Given the description of an element on the screen output the (x, y) to click on. 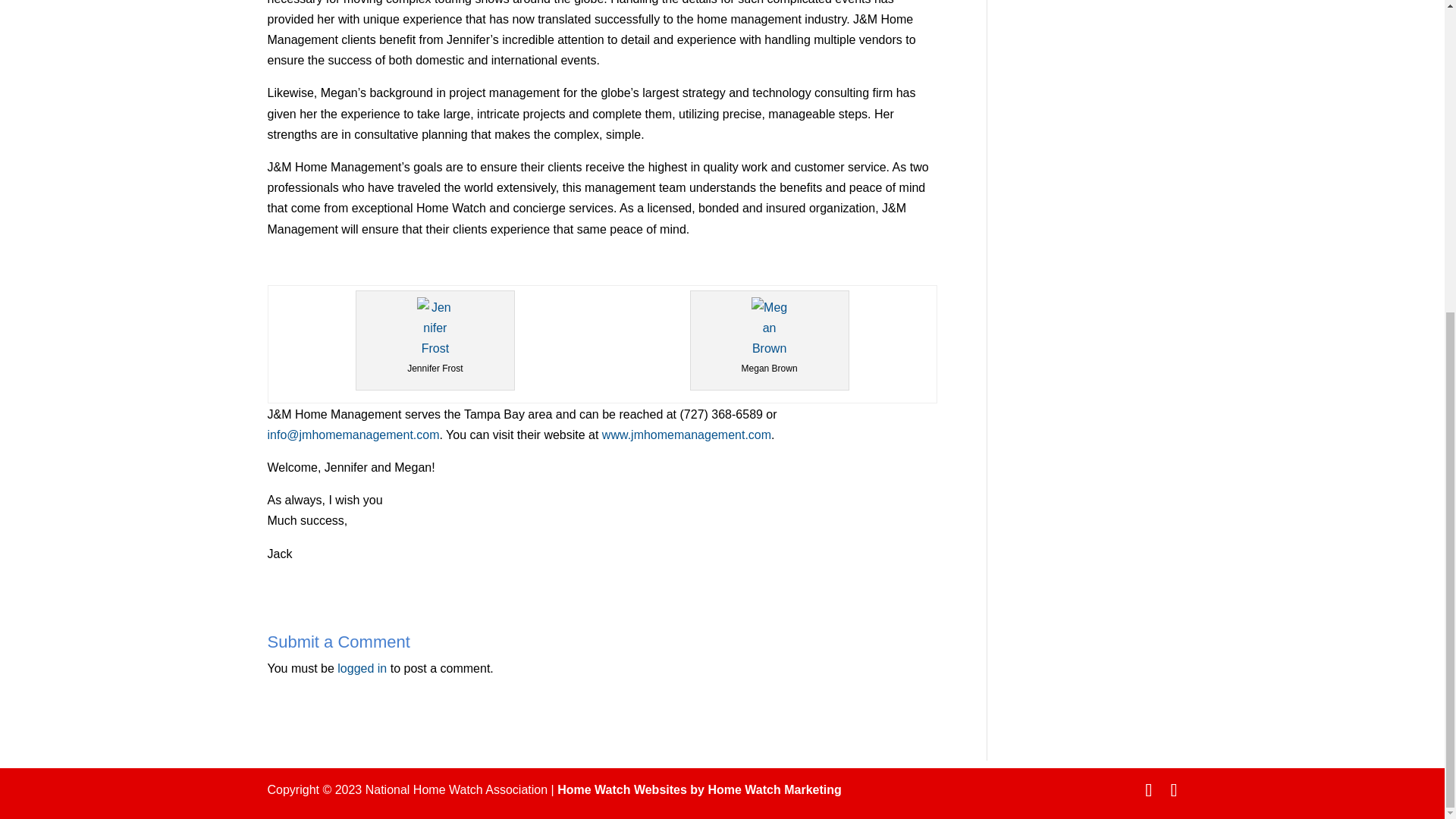
www.jmhomemanagement.com (686, 434)
Home Watch Websites by Home Watch Marketing (699, 789)
logged in (362, 667)
